Given the description of an element on the screen output the (x, y) to click on. 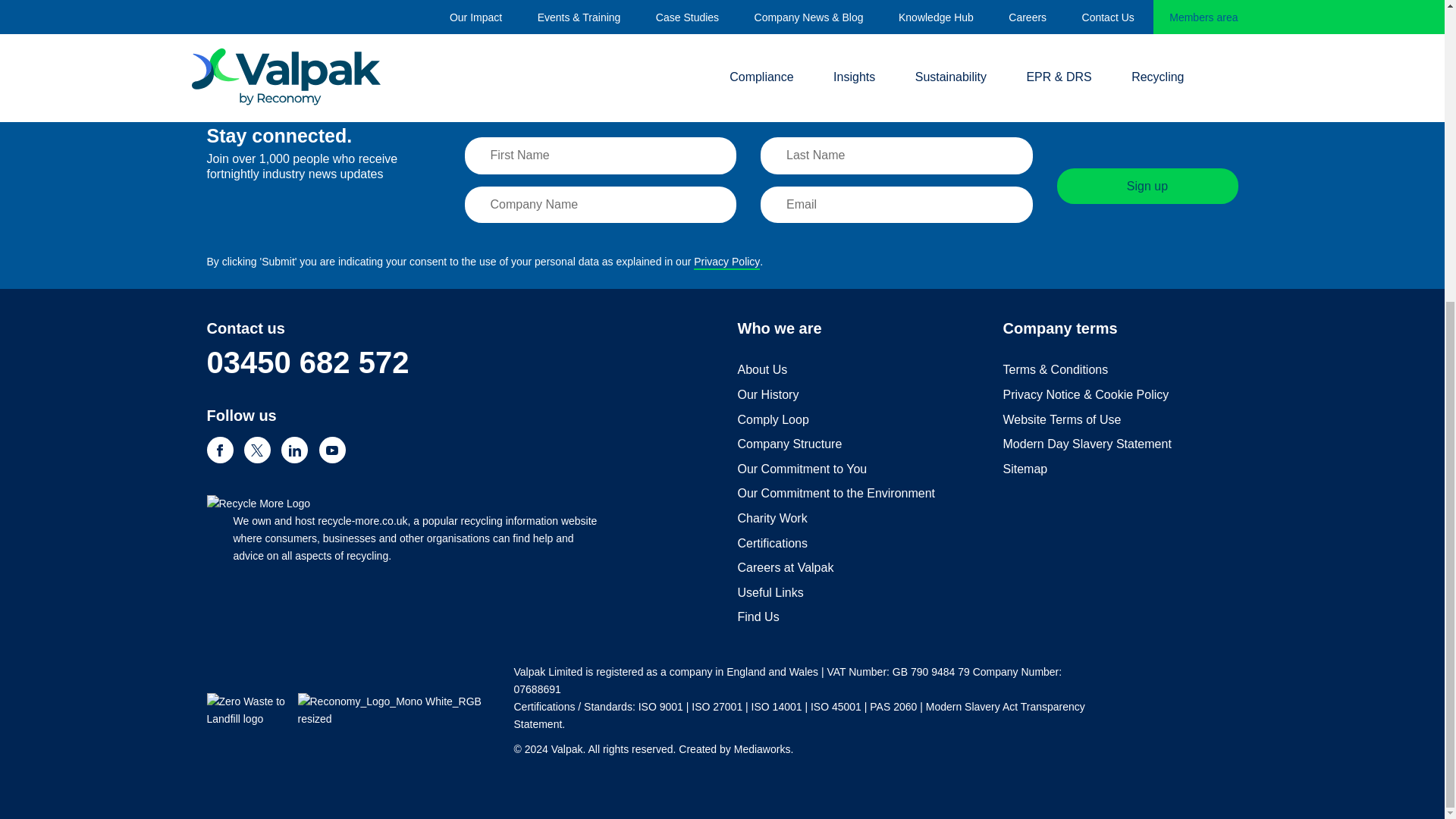
Sign up (1148, 185)
